Given the description of an element on the screen output the (x, y) to click on. 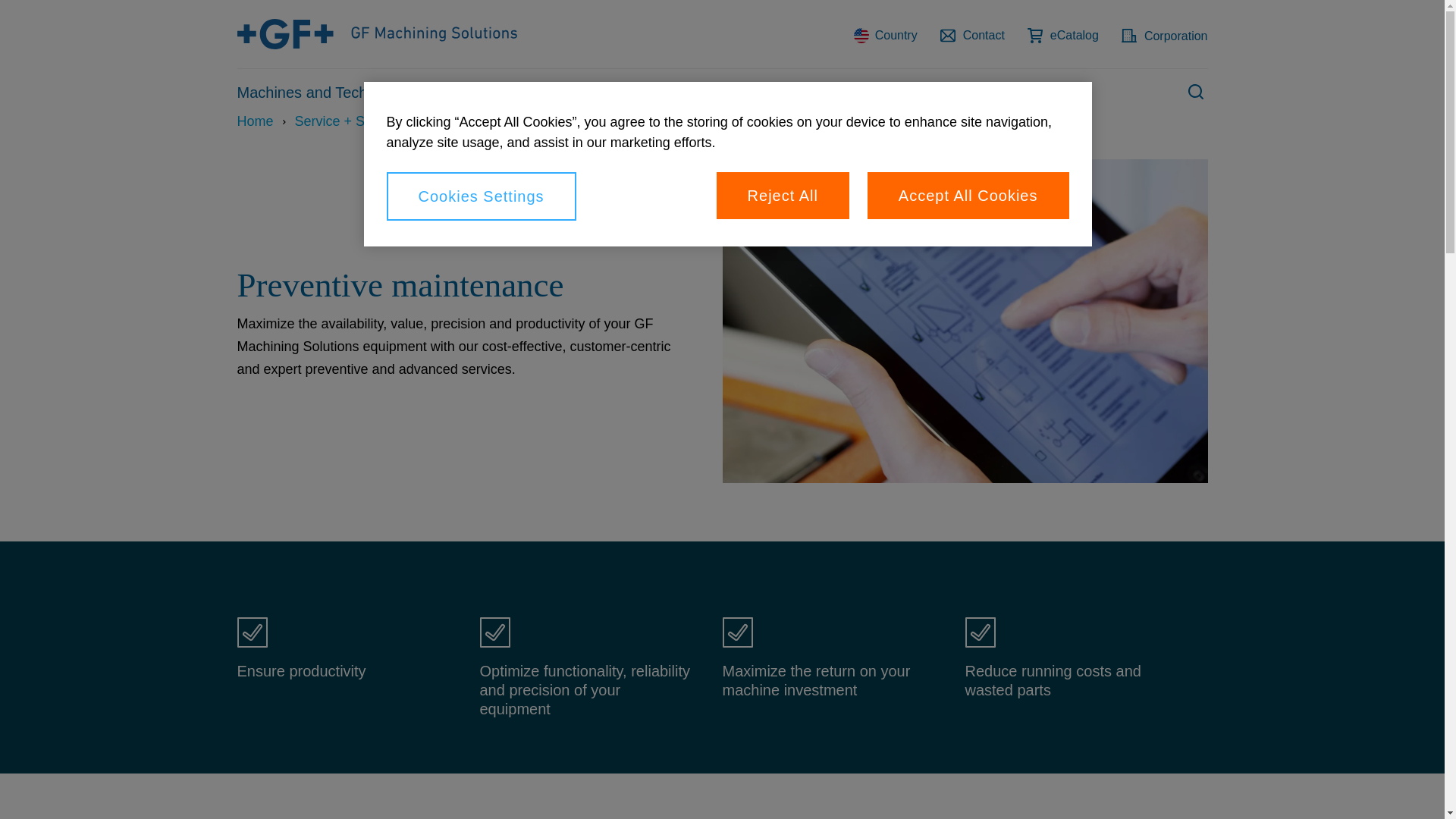
Advanced diagnosis (626, 120)
Home (254, 120)
